Given the description of an element on the screen output the (x, y) to click on. 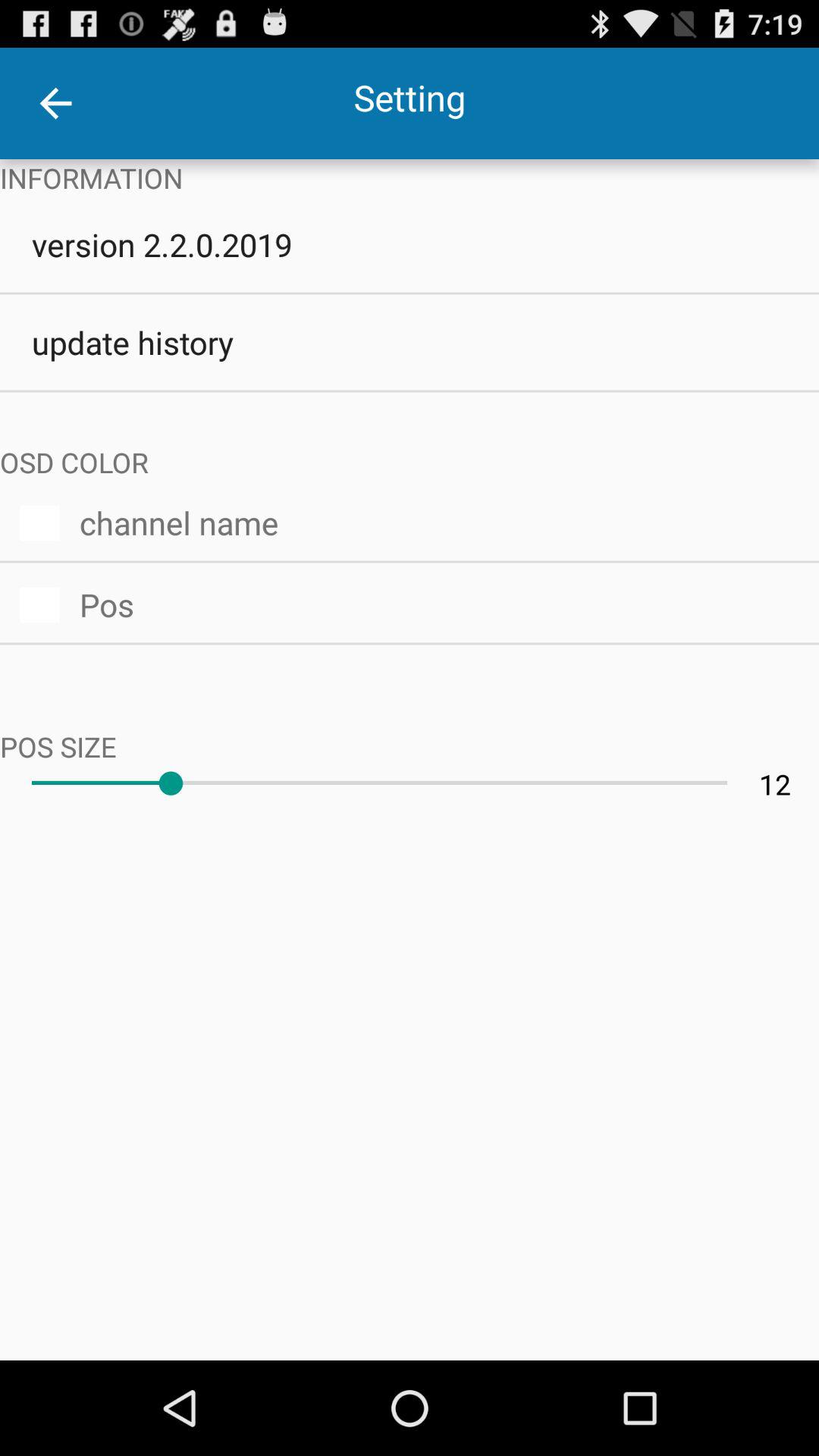
choose the icon below information item (409, 244)
